Given the description of an element on the screen output the (x, y) to click on. 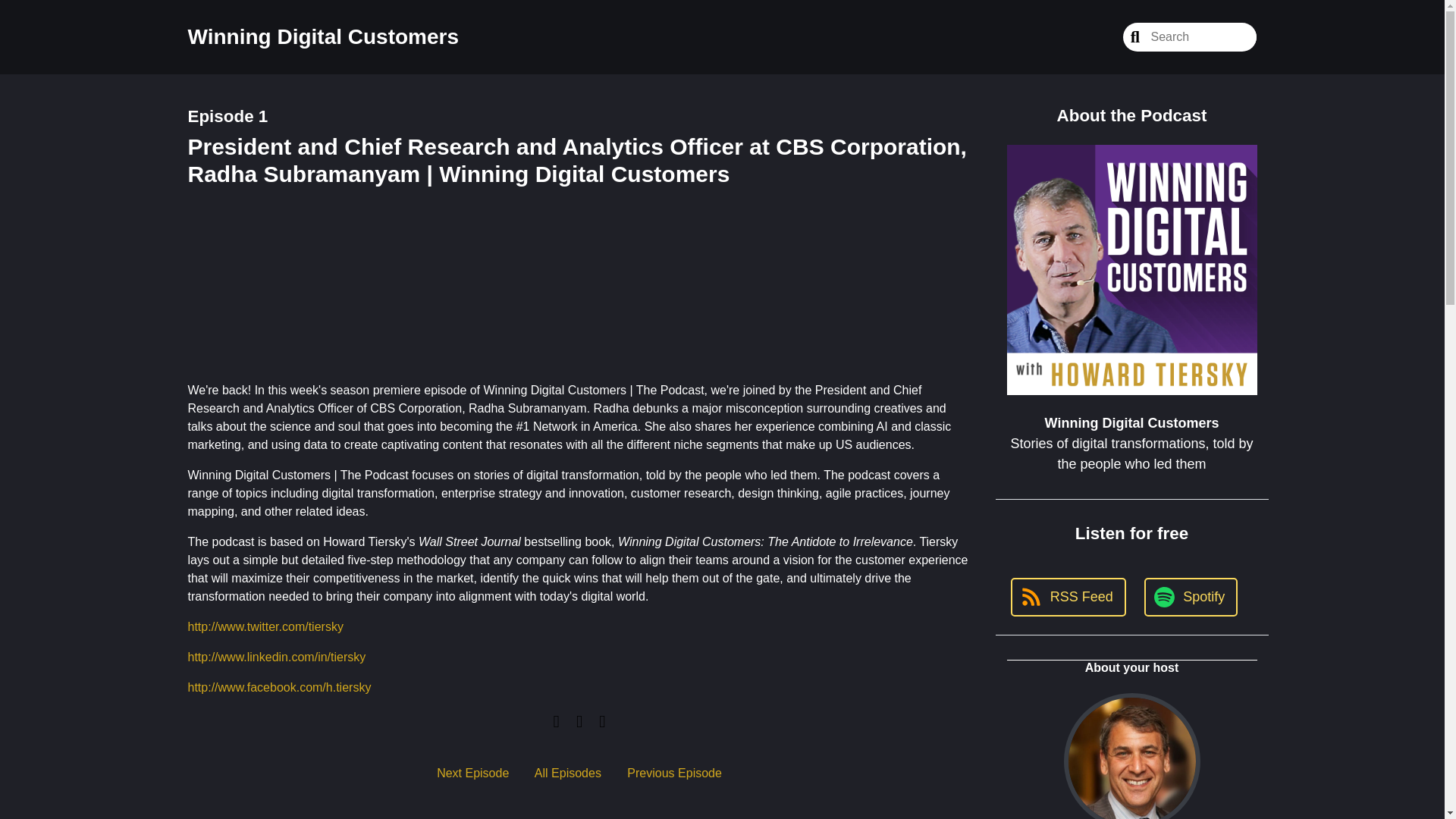
Previous Episode (674, 772)
RSS Feed (1067, 365)
Spotify (1190, 365)
All Episodes (567, 772)
Next Episode (472, 772)
